Given the description of an element on the screen output the (x, y) to click on. 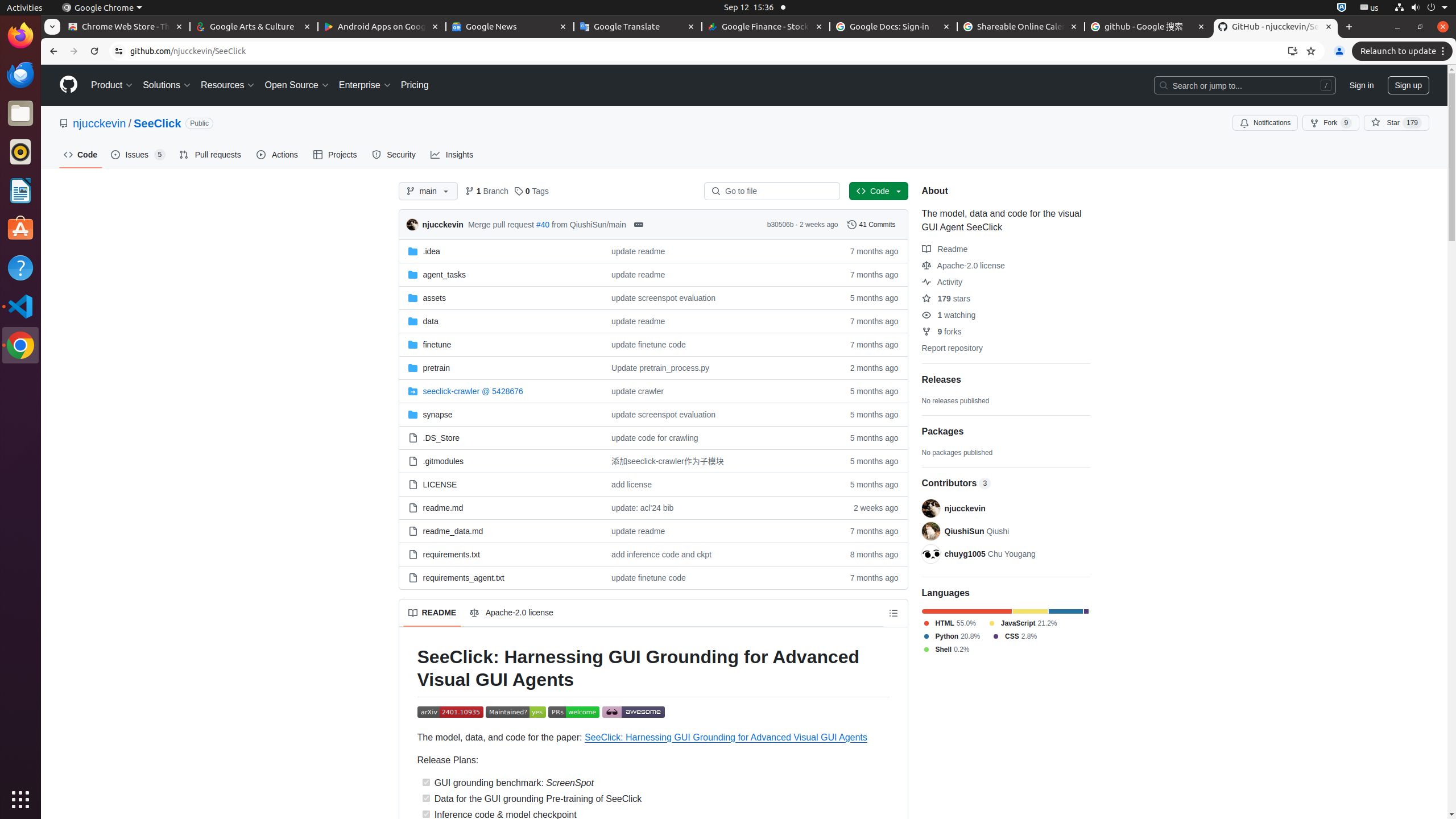
update: acl'24 bib Element type: table-cell (716, 507)
update crawler Element type: link (637, 390)
1 watching Element type: link (948, 314)
requirements_agent.txt, (File) Element type: link (463, 577)
1 Branch Element type: link (486, 191)
